Given the description of an element on the screen output the (x, y) to click on. 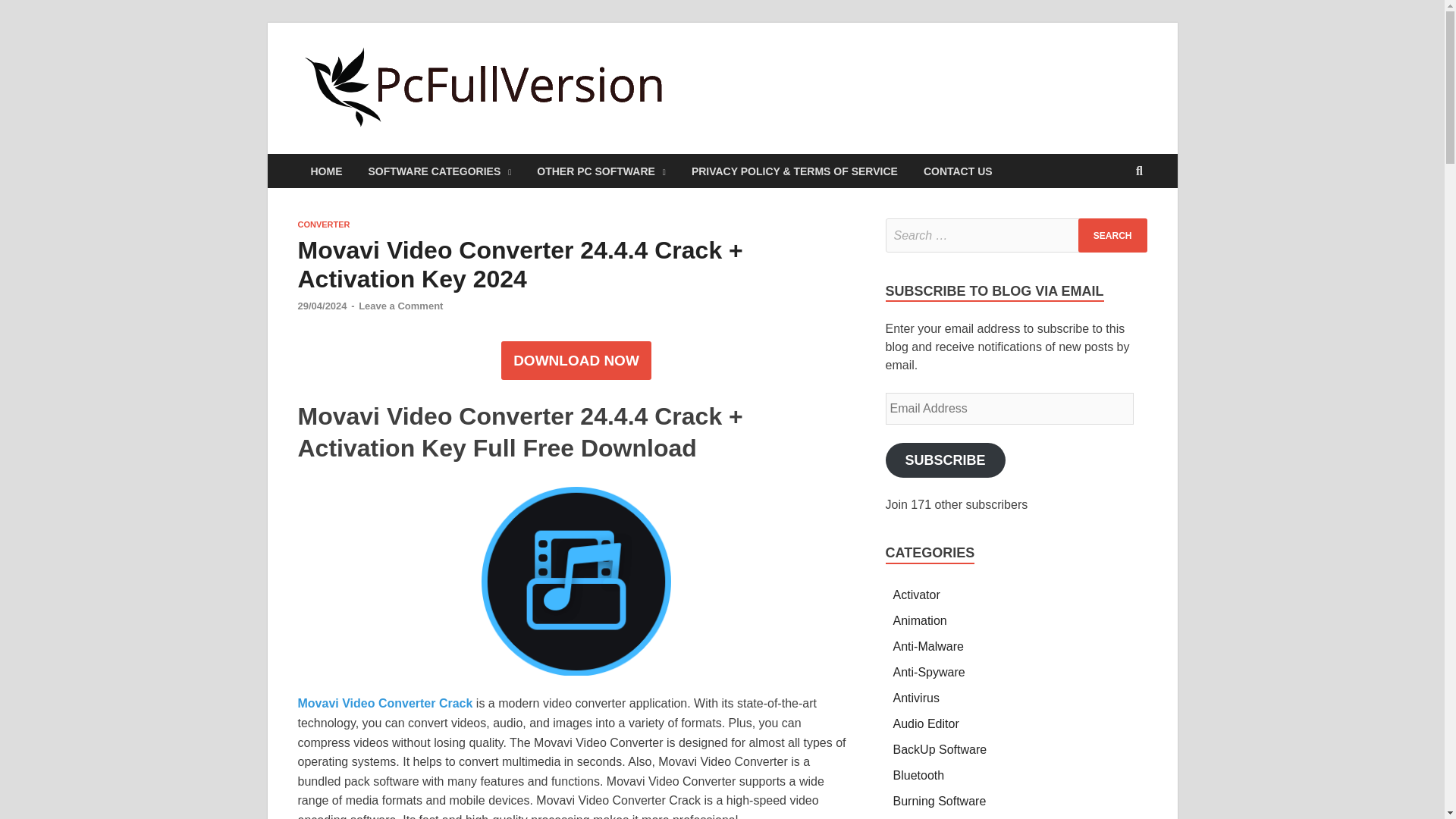
CONTACT US (958, 170)
Pc Software Full Version (836, 74)
SOFTWARE CATEGORIES (439, 170)
OTHER PC SOFTWARE (601, 170)
HOME (326, 170)
Search (1112, 235)
Search (1112, 235)
